Given the description of an element on the screen output the (x, y) to click on. 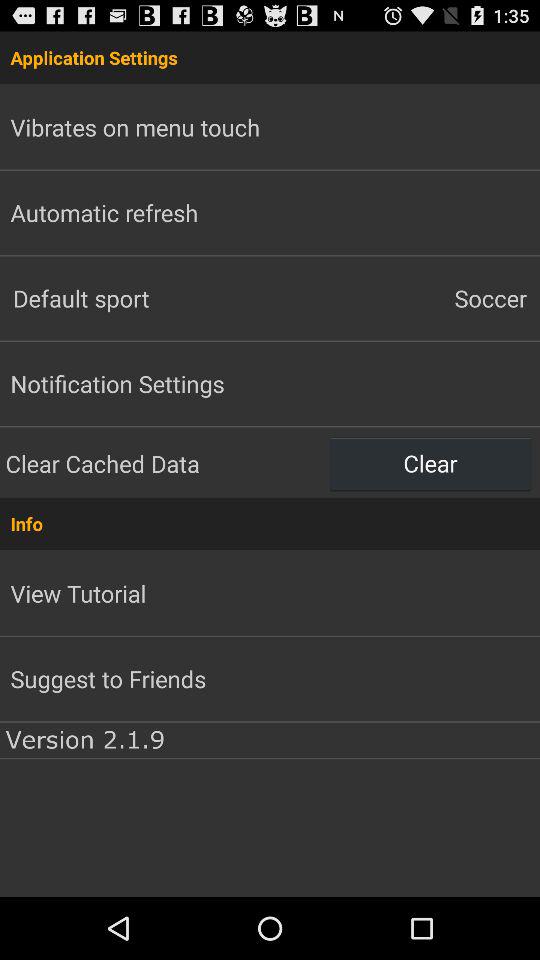
tap item to the left of soccer (135, 298)
